Given the description of an element on the screen output the (x, y) to click on. 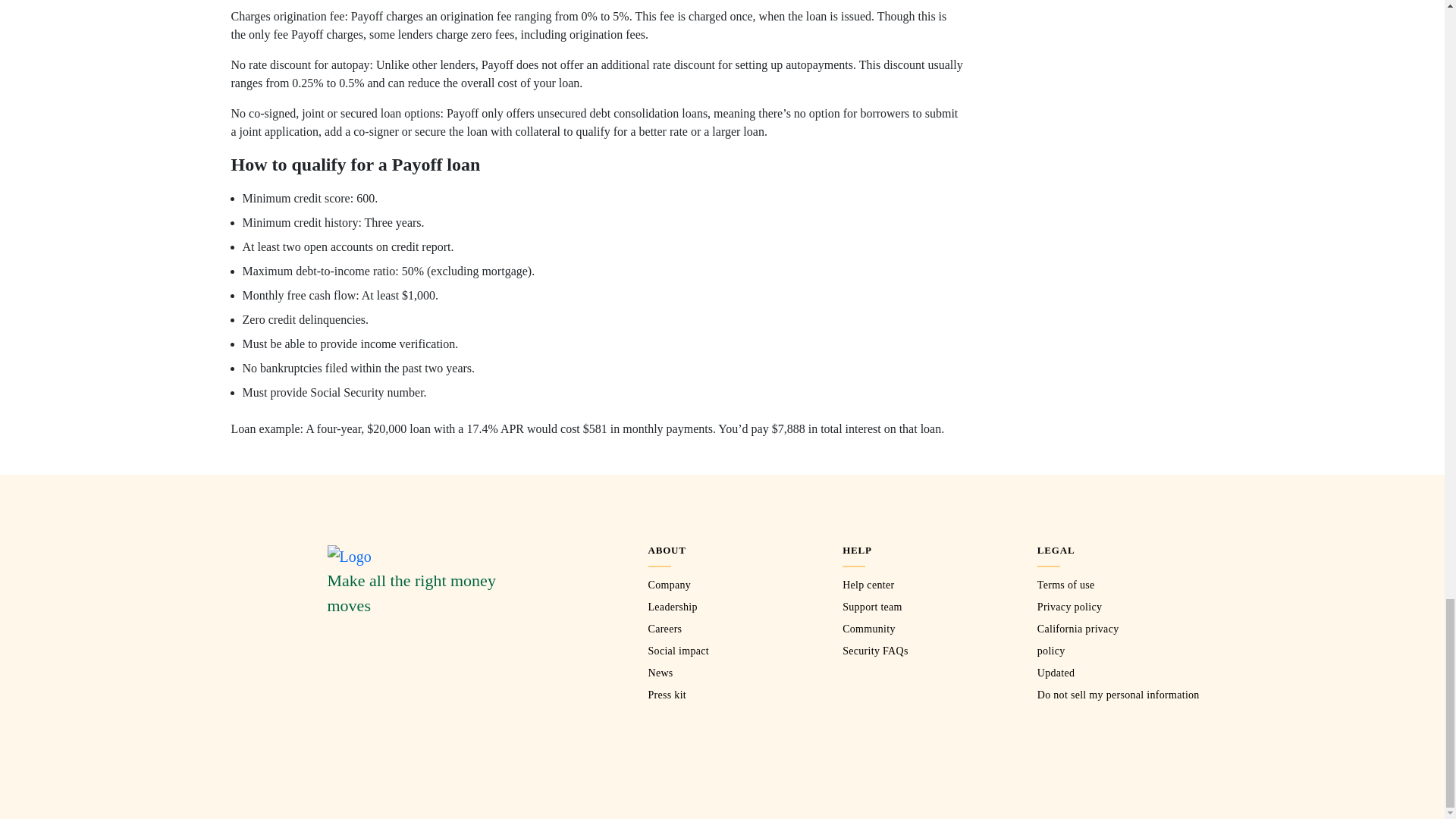
News (659, 672)
Press kit (666, 695)
Security FAQs (875, 650)
Social impact (678, 650)
Support team (872, 606)
Help center (868, 584)
Leadership (672, 606)
Terms of use (1065, 584)
policy (1050, 650)
Privacy policy (1069, 606)
Company (668, 584)
California privacy (1077, 628)
Community (869, 628)
Updated (1055, 672)
Careers (664, 628)
